Given the description of an element on the screen output the (x, y) to click on. 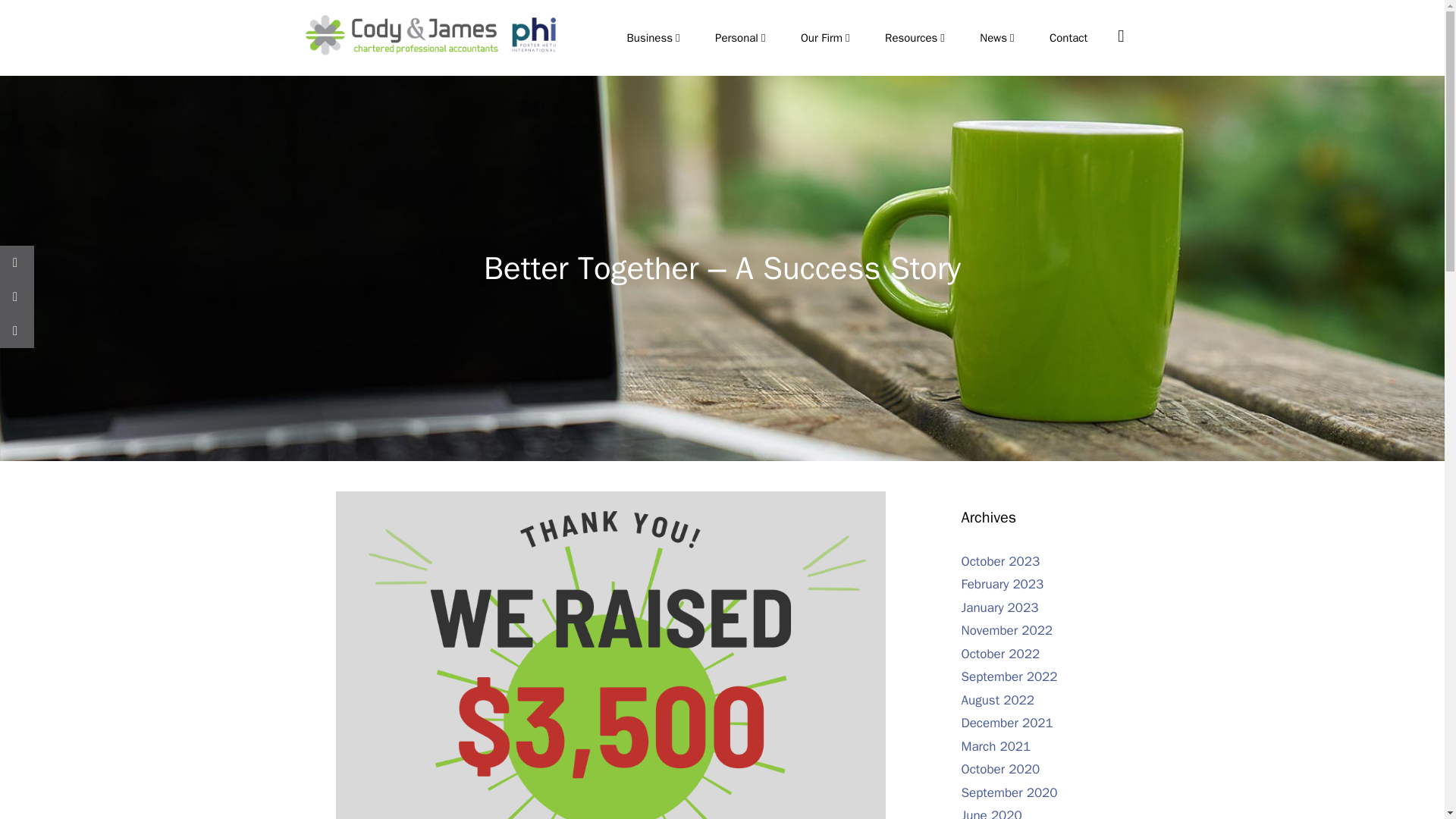
Resources (916, 37)
Business (655, 37)
Personal (743, 37)
Contact (1067, 37)
News (998, 37)
Our Firm (827, 37)
